Given the description of an element on the screen output the (x, y) to click on. 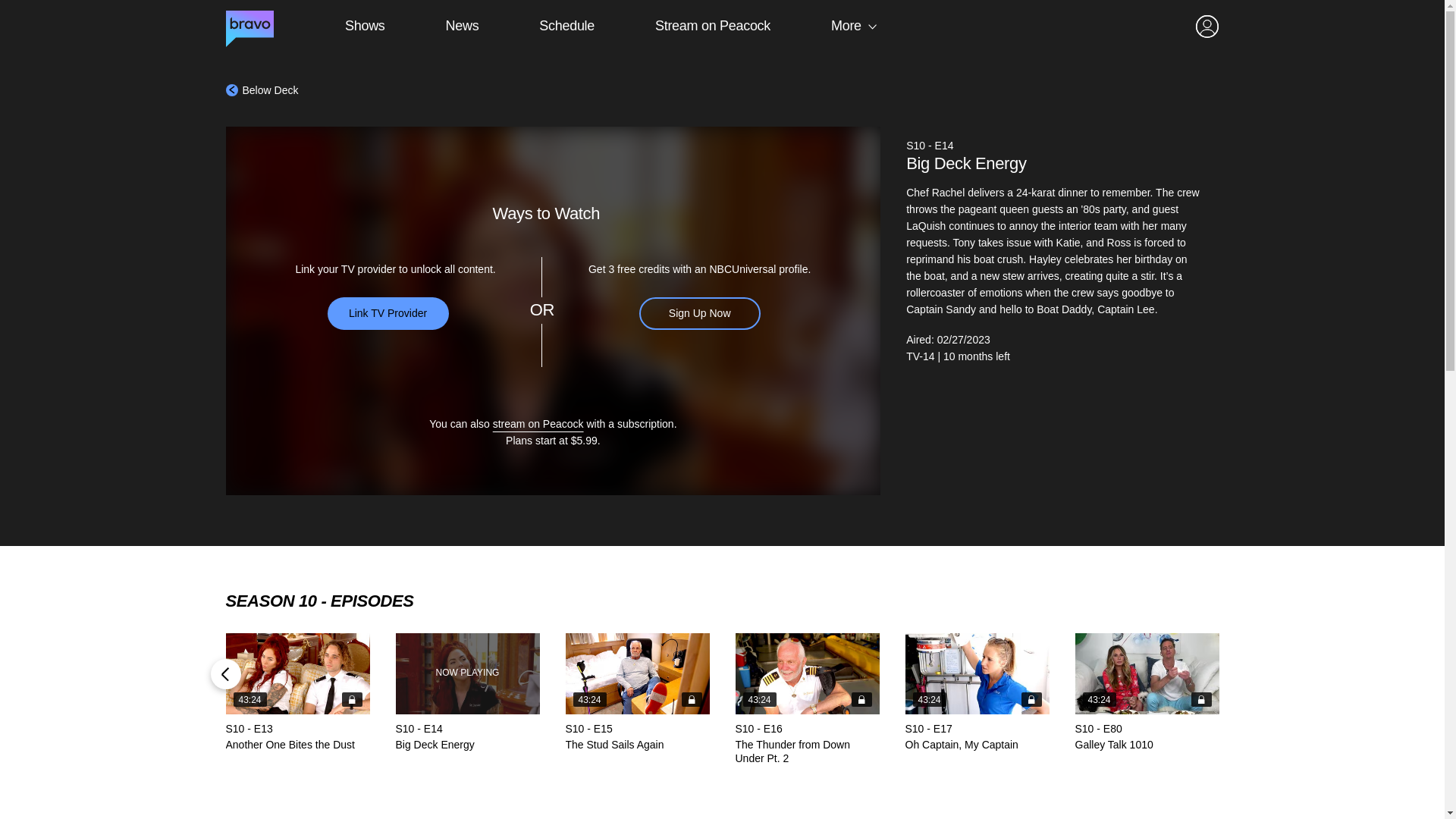
stream on Peacock (538, 423)
Stream on Peacock (807, 698)
Shows (977, 692)
Schedule (712, 26)
Below Deck (468, 692)
Skip to main content (363, 26)
News (566, 26)
More (261, 90)
